Given the description of an element on the screen output the (x, y) to click on. 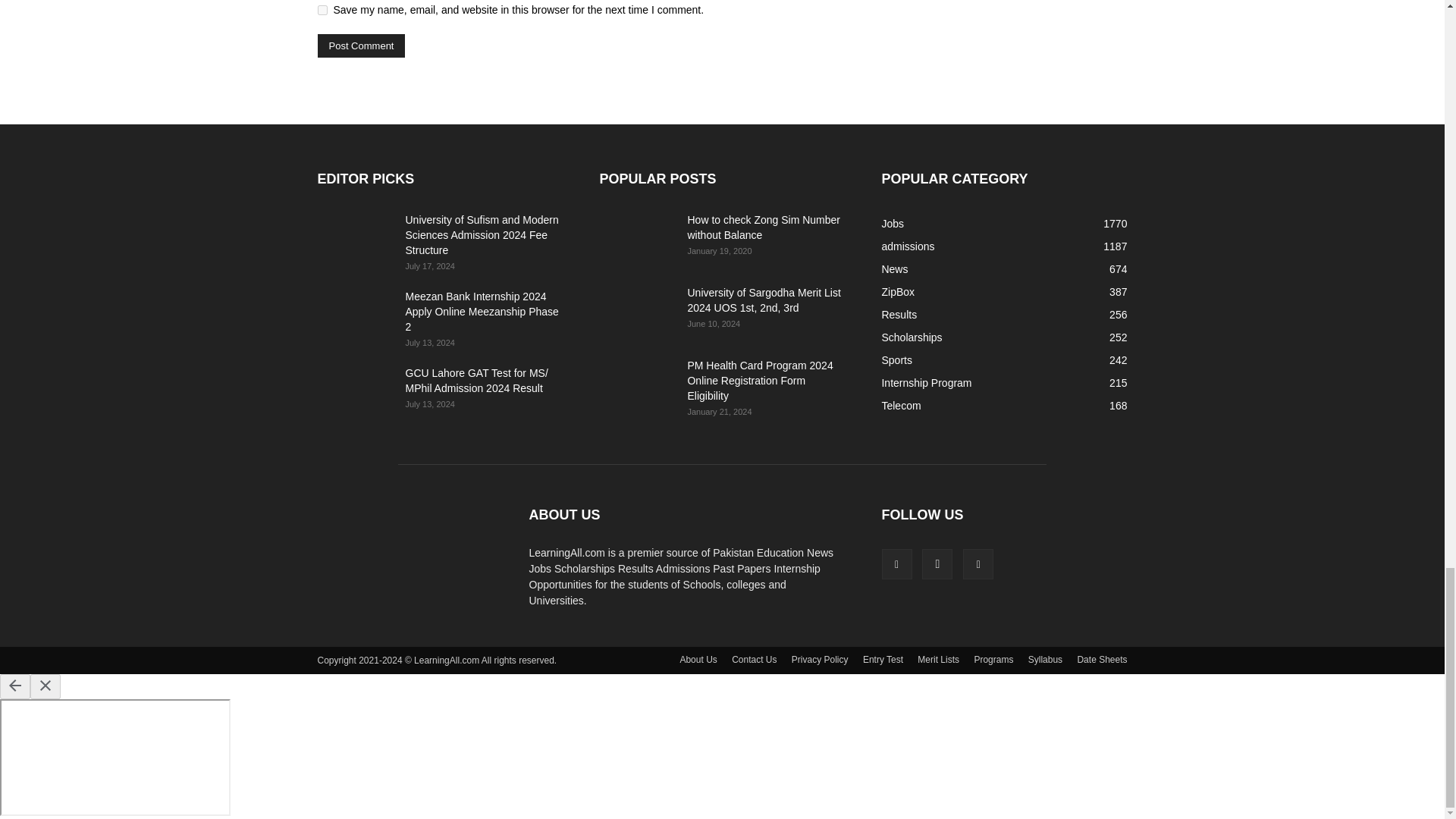
Post Comment (360, 45)
yes (321, 9)
